Given the description of an element on the screen output the (x, y) to click on. 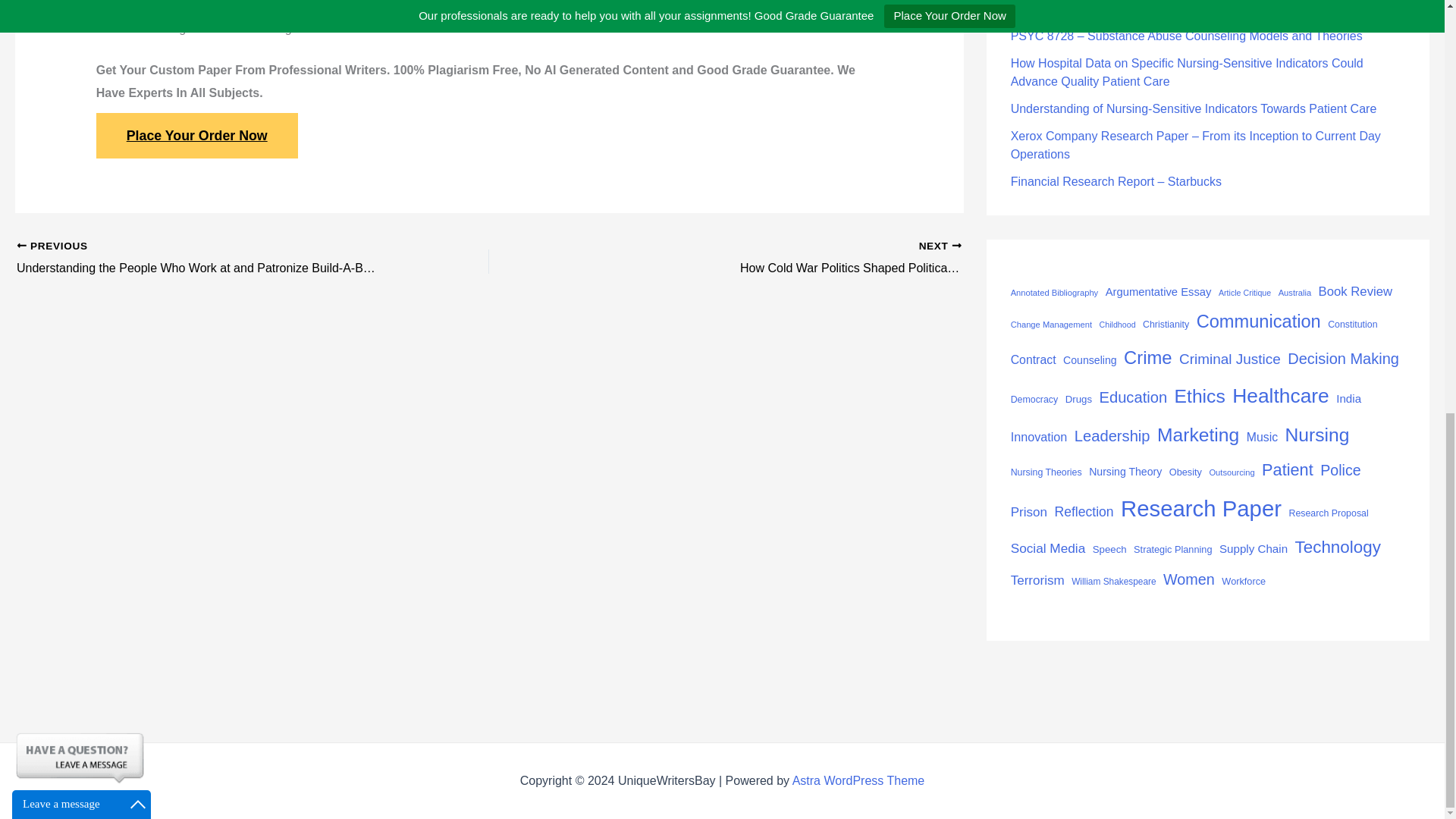
Drugs (1078, 399)
Crime (1148, 357)
Change Management (1051, 324)
Annotated Bibliography (1054, 292)
Democracy (1034, 399)
Childhood (1117, 324)
Criminal Justice (1230, 358)
Decision Making (1343, 358)
Christianity (1165, 324)
